Given the description of an element on the screen output the (x, y) to click on. 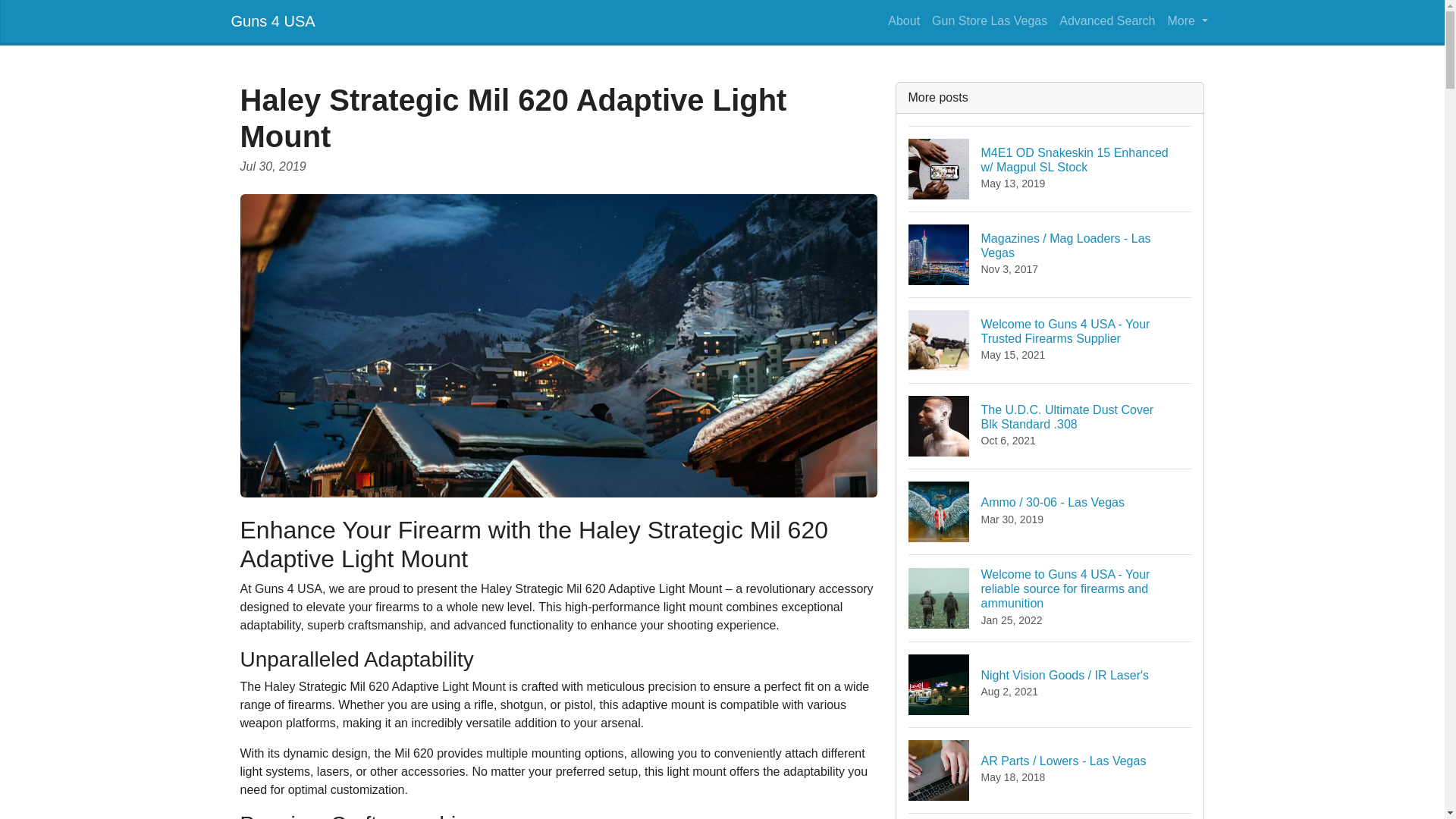
Gun Store Las Vegas (989, 20)
More (1187, 20)
About (904, 20)
Guns 4 USA (272, 20)
Advanced Search (1050, 425)
